Given the description of an element on the screen output the (x, y) to click on. 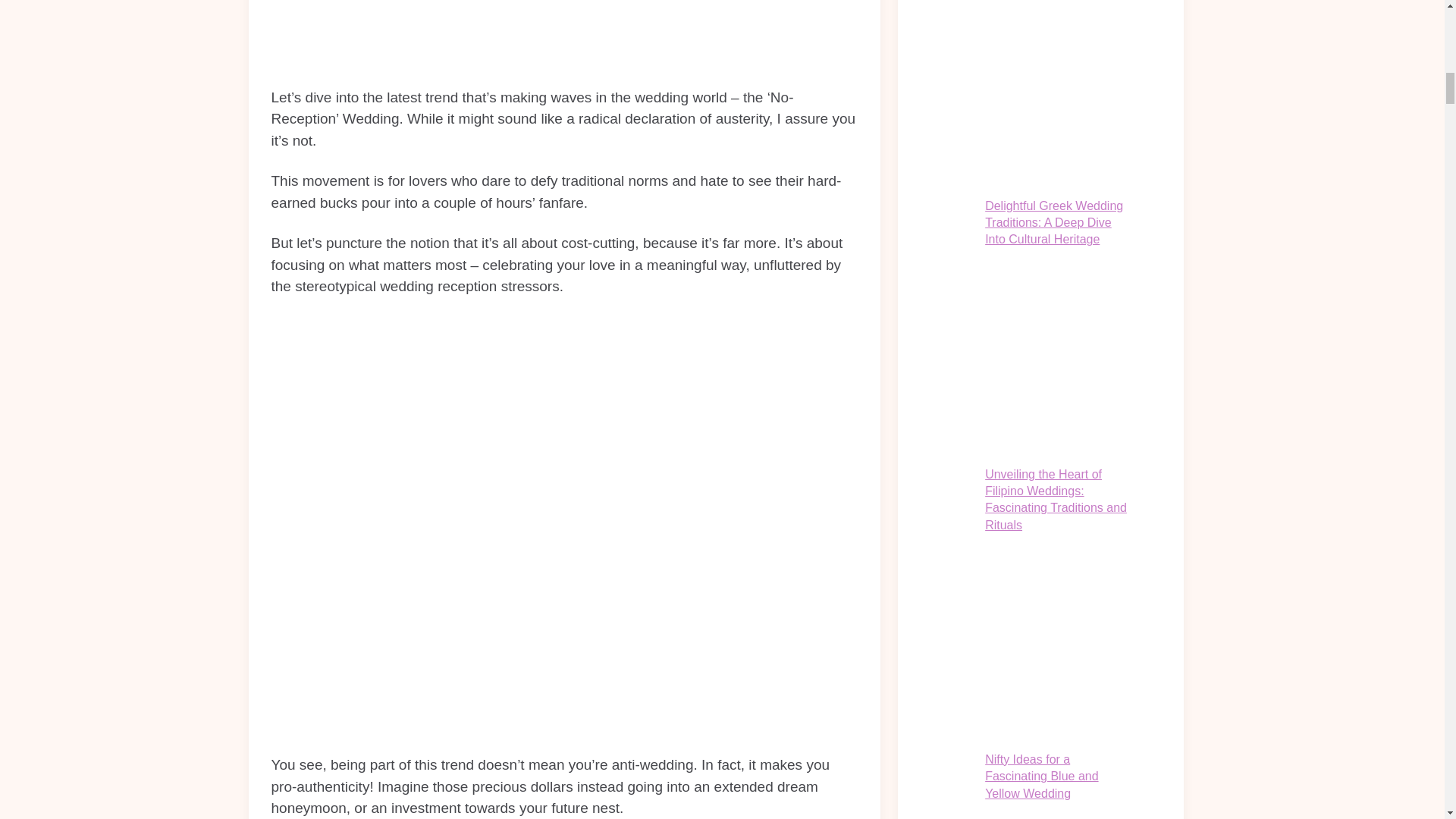
10 wedding decorations no reception should be without (564, 33)
